Given the description of an element on the screen output the (x, y) to click on. 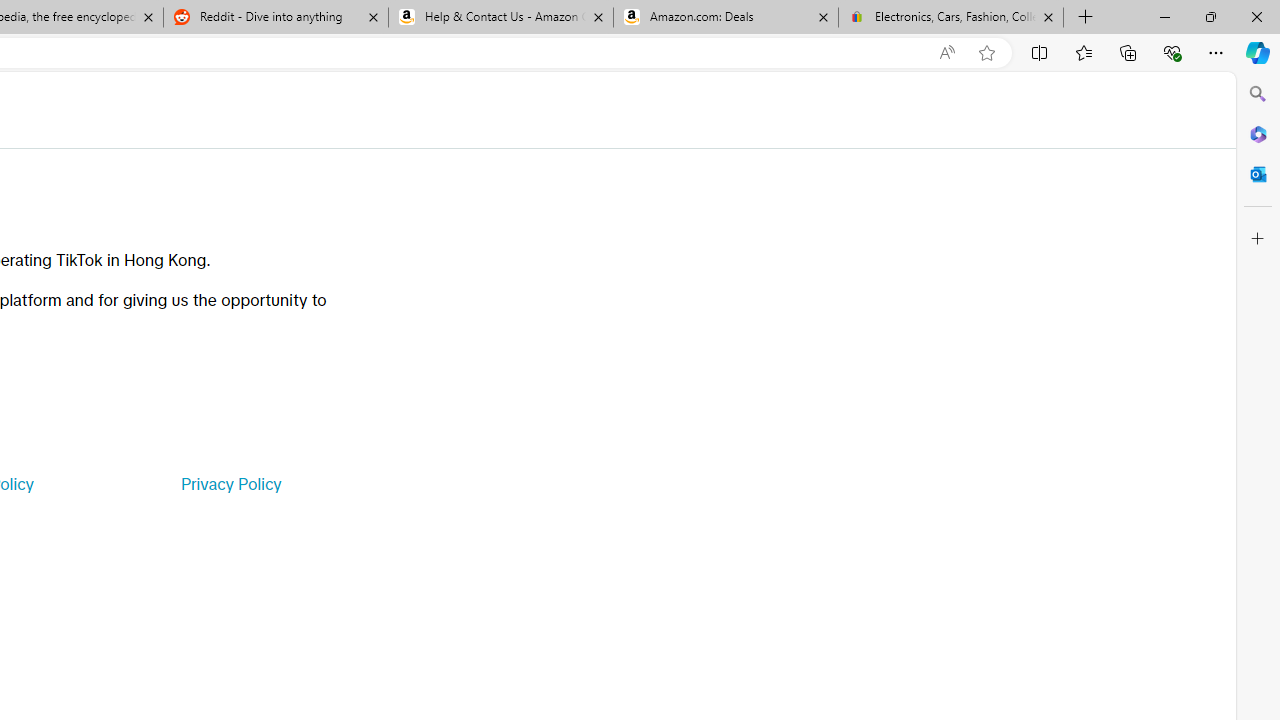
Amazon.com: Deals (726, 17)
